Given the description of an element on the screen output the (x, y) to click on. 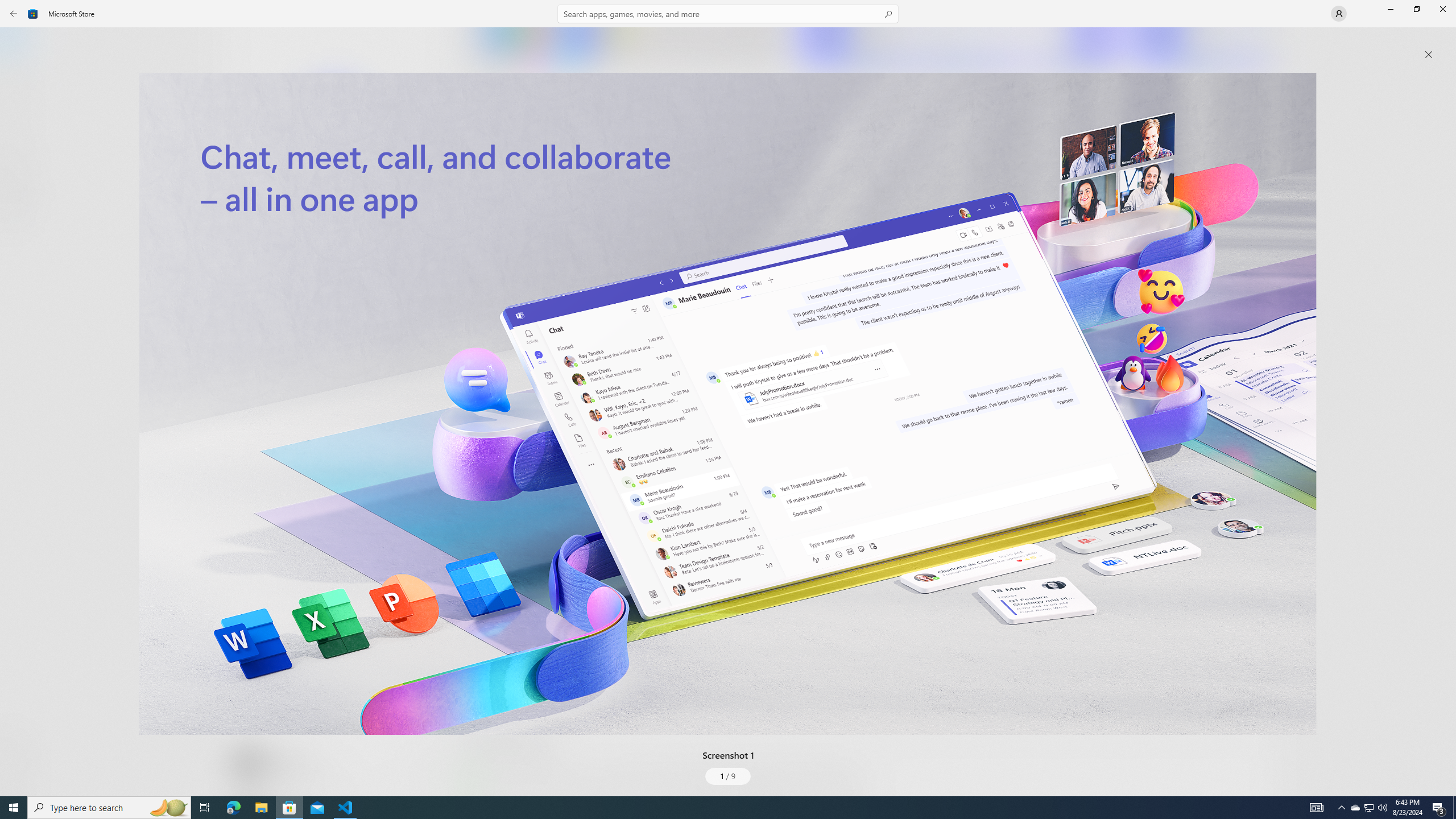
Screenshot 3 (1201, 46)
Show all ratings and reviews (477, 527)
Screenshot 2 (959, 46)
close popup window (1428, 54)
2.6 stars. Click to skip to ratings and reviews (307, 309)
Productivity (329, 426)
Search (727, 13)
Back (13, 13)
Screenshot 1 (727, 403)
Show more (485, 793)
